Given the description of an element on the screen output the (x, y) to click on. 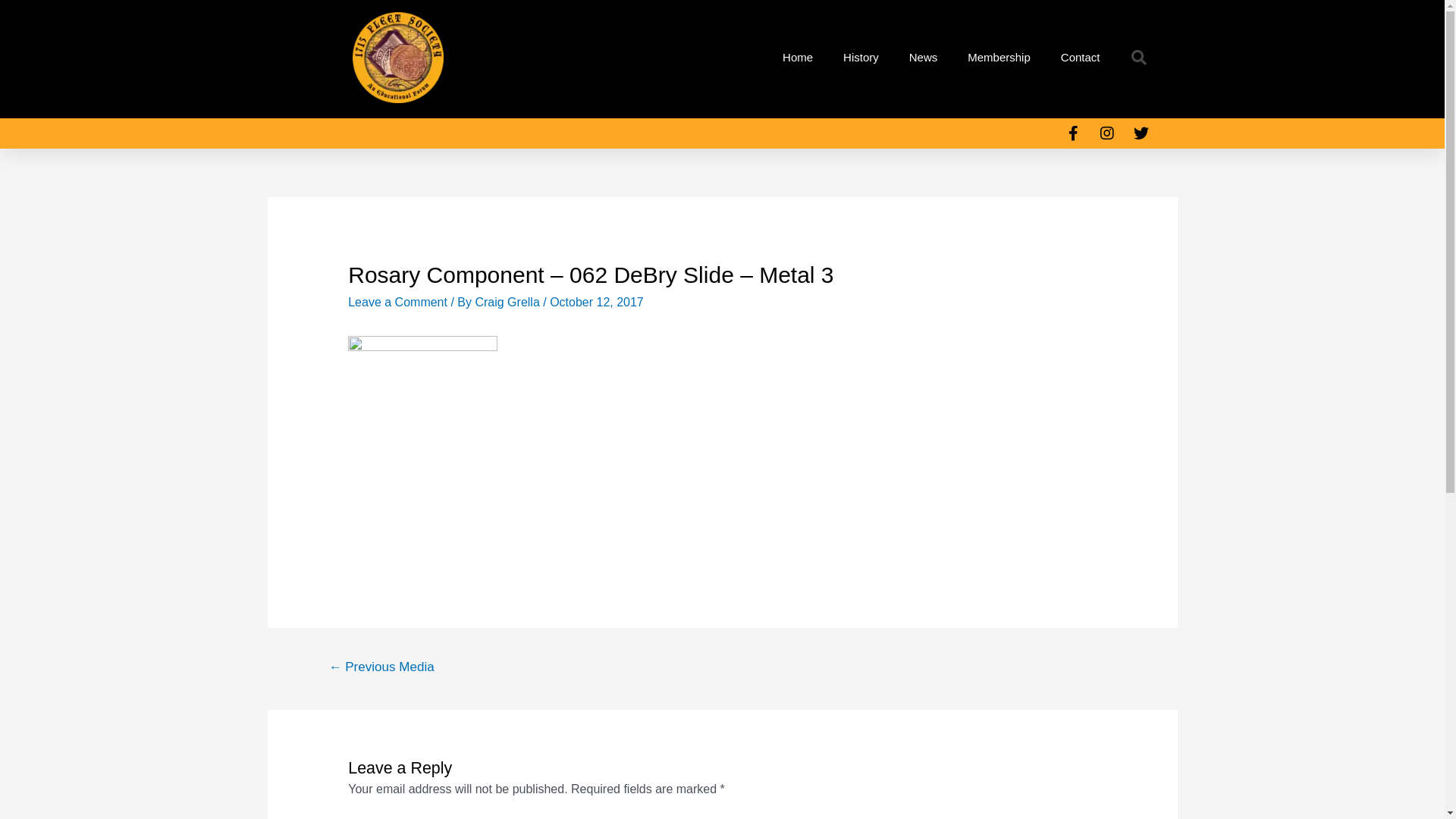
Leave a Comment Element type: text (397, 301)
History Element type: text (861, 57)
Craig Grella Element type: text (508, 301)
Membership Element type: text (998, 57)
Contact Element type: text (1080, 57)
Home Element type: text (797, 57)
News Element type: text (923, 57)
